Given the description of an element on the screen output the (x, y) to click on. 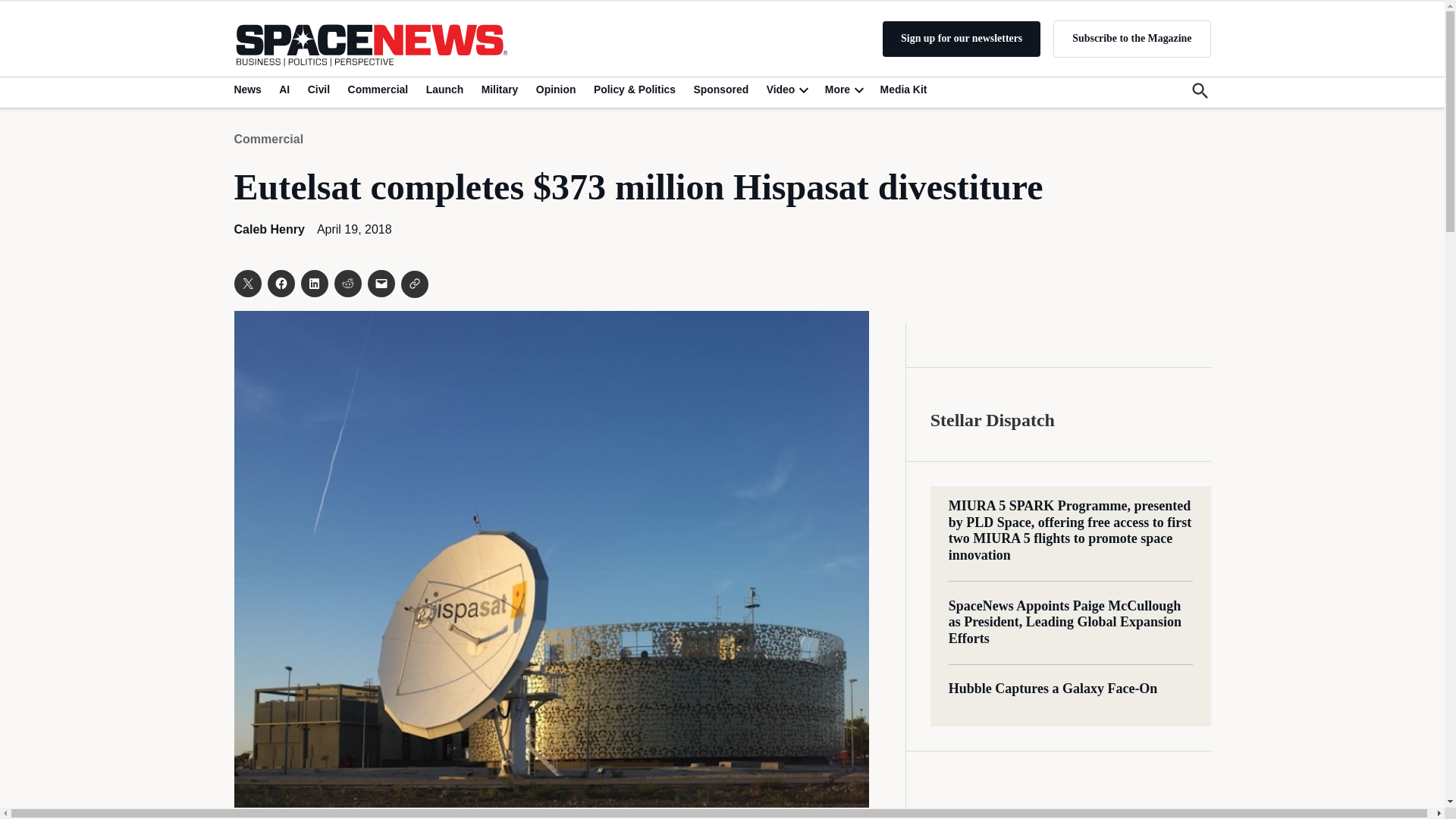
Sign up for our newsletters (961, 38)
Click to email a link to a friend (380, 283)
Click to share on Reddit (347, 283)
Civil (318, 89)
Click to share on Facebook (280, 283)
AI (284, 89)
Click to share on X (246, 283)
Click to share on LinkedIn (313, 283)
Subscribe to the Magazine (1130, 38)
News (249, 89)
Click to share on Clipboard (414, 284)
